Given the description of an element on the screen output the (x, y) to click on. 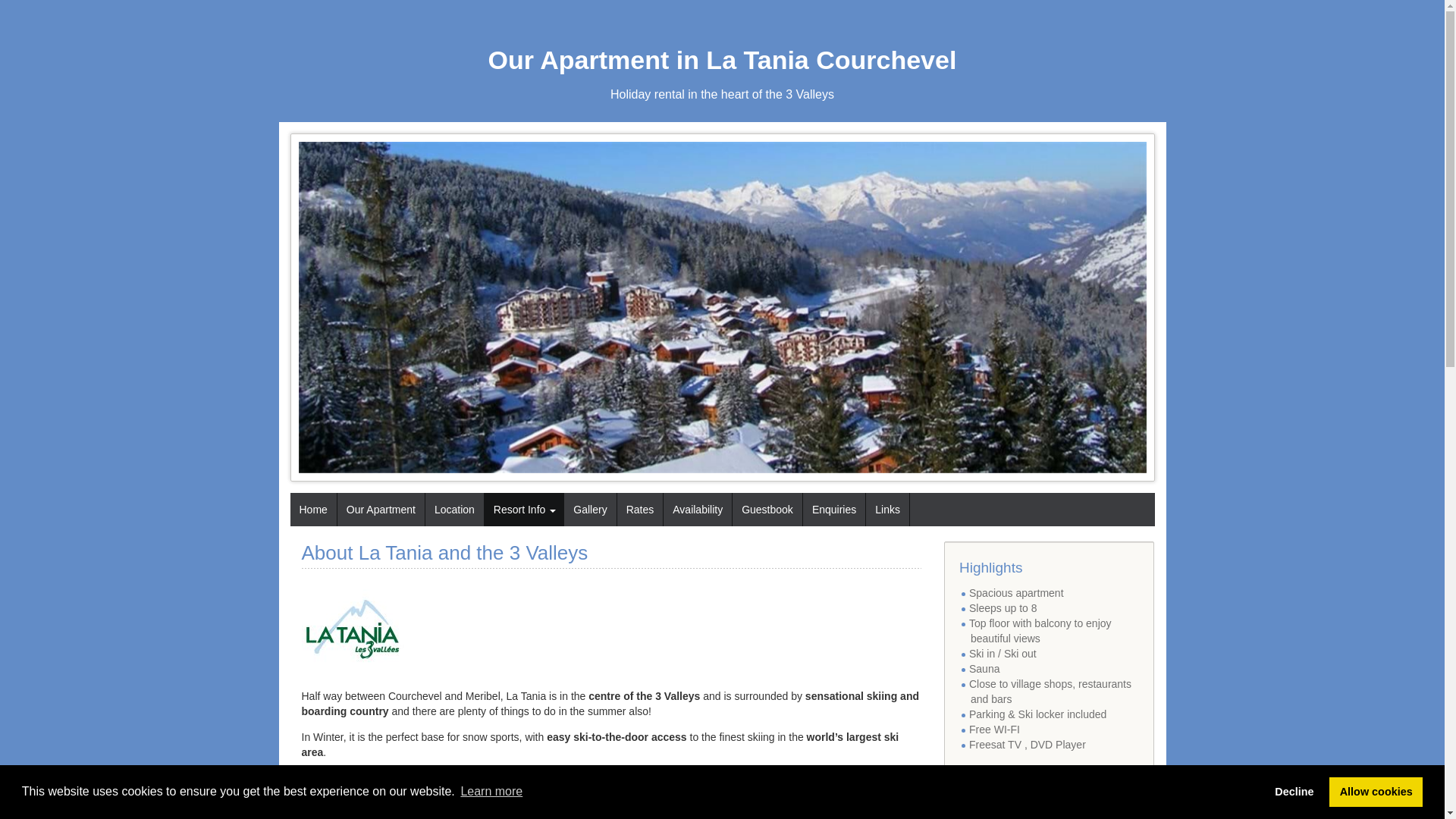
Availability Element type: text (697, 509)
Learn more Element type: text (491, 791)
Home Element type: text (312, 509)
Our Apartment in La Tania Courchevel Element type: text (722, 59)
Enquiries Element type: text (834, 509)
Resort Info Element type: text (523, 509)
Location Element type: text (454, 509)
Our Apartment Element type: text (380, 509)
Links Element type: text (887, 509)
Guestbook Element type: text (767, 509)
Gallery Element type: text (589, 509)
Allow cookies Element type: text (1375, 791)
Decline Element type: text (1294, 791)
Rates Element type: text (640, 509)
